Given the description of an element on the screen output the (x, y) to click on. 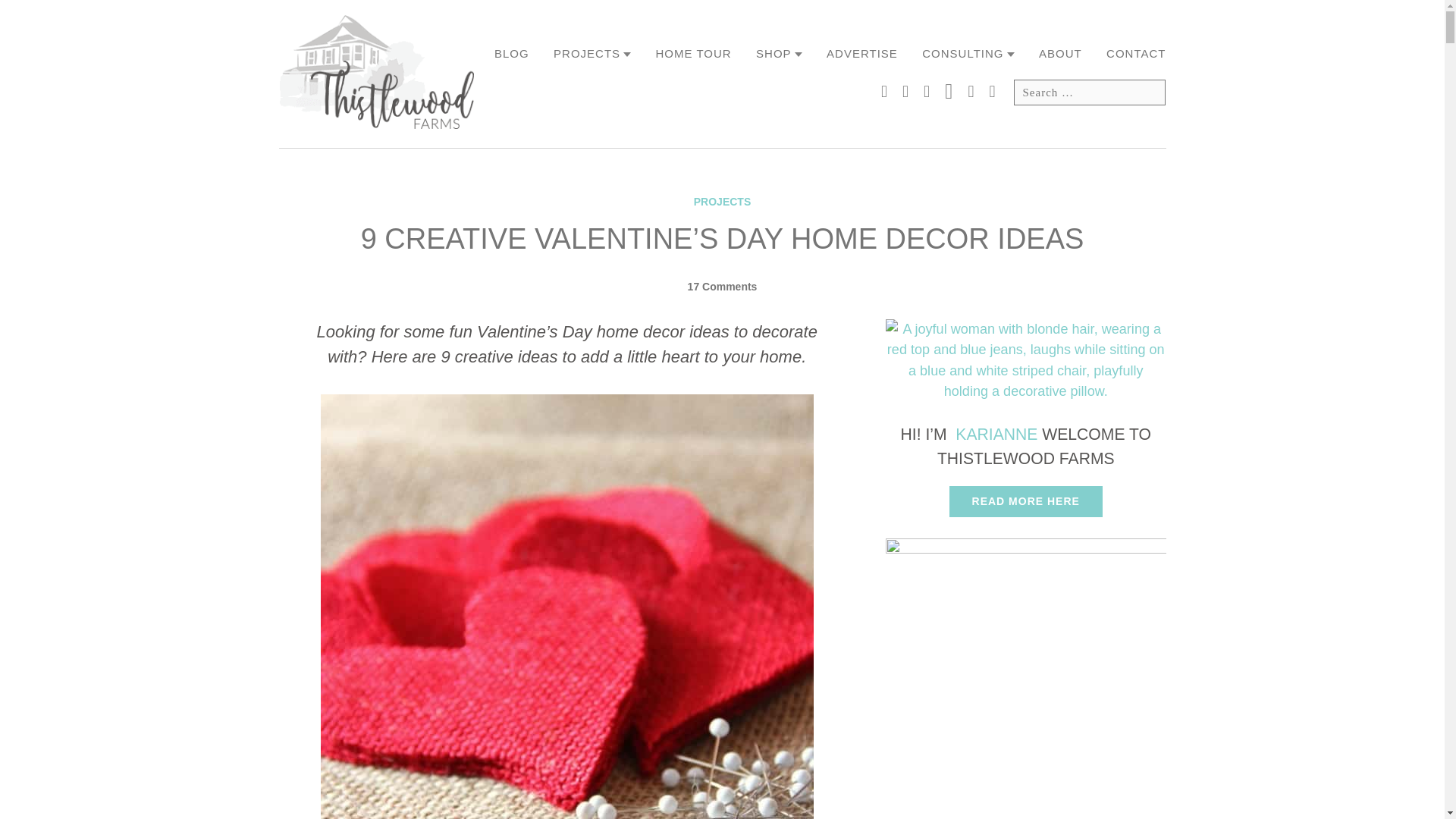
Search (1147, 92)
CONSULTING (967, 54)
BLOG (512, 54)
SHOP (778, 54)
Search (1147, 92)
17 Comments (722, 286)
CONTACT (1136, 54)
HOME TOUR (694, 54)
ADVERTISE (862, 54)
PROJECTS (591, 54)
PROJECTS (722, 201)
ABOUT (1060, 54)
Search (1147, 92)
